Given the description of an element on the screen output the (x, y) to click on. 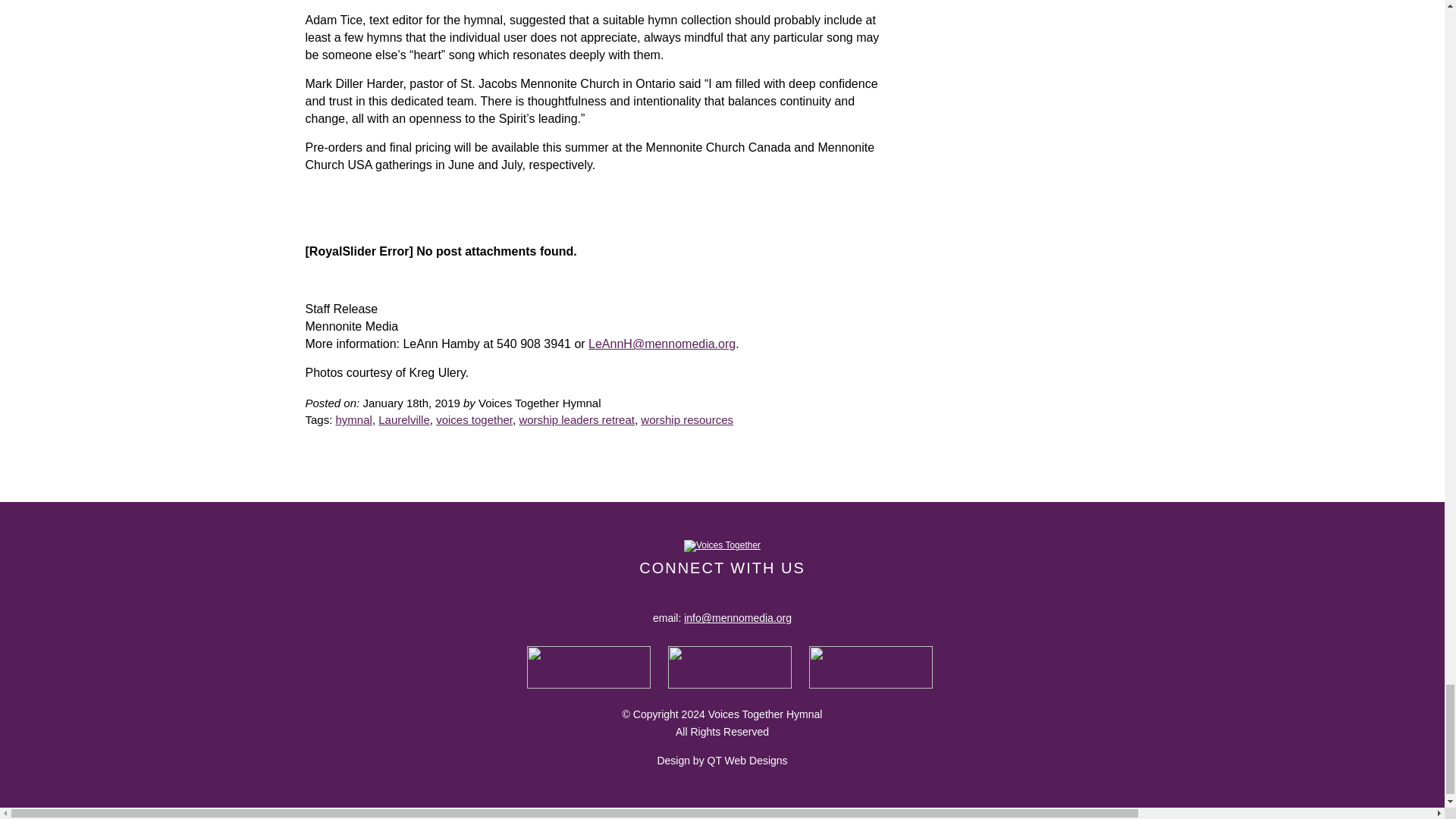
QT Web Designs (747, 760)
voices together (473, 419)
worship resources (686, 419)
Laurelville (403, 419)
hymnal (354, 419)
worship leaders retreat (576, 419)
